Given the description of an element on the screen output the (x, y) to click on. 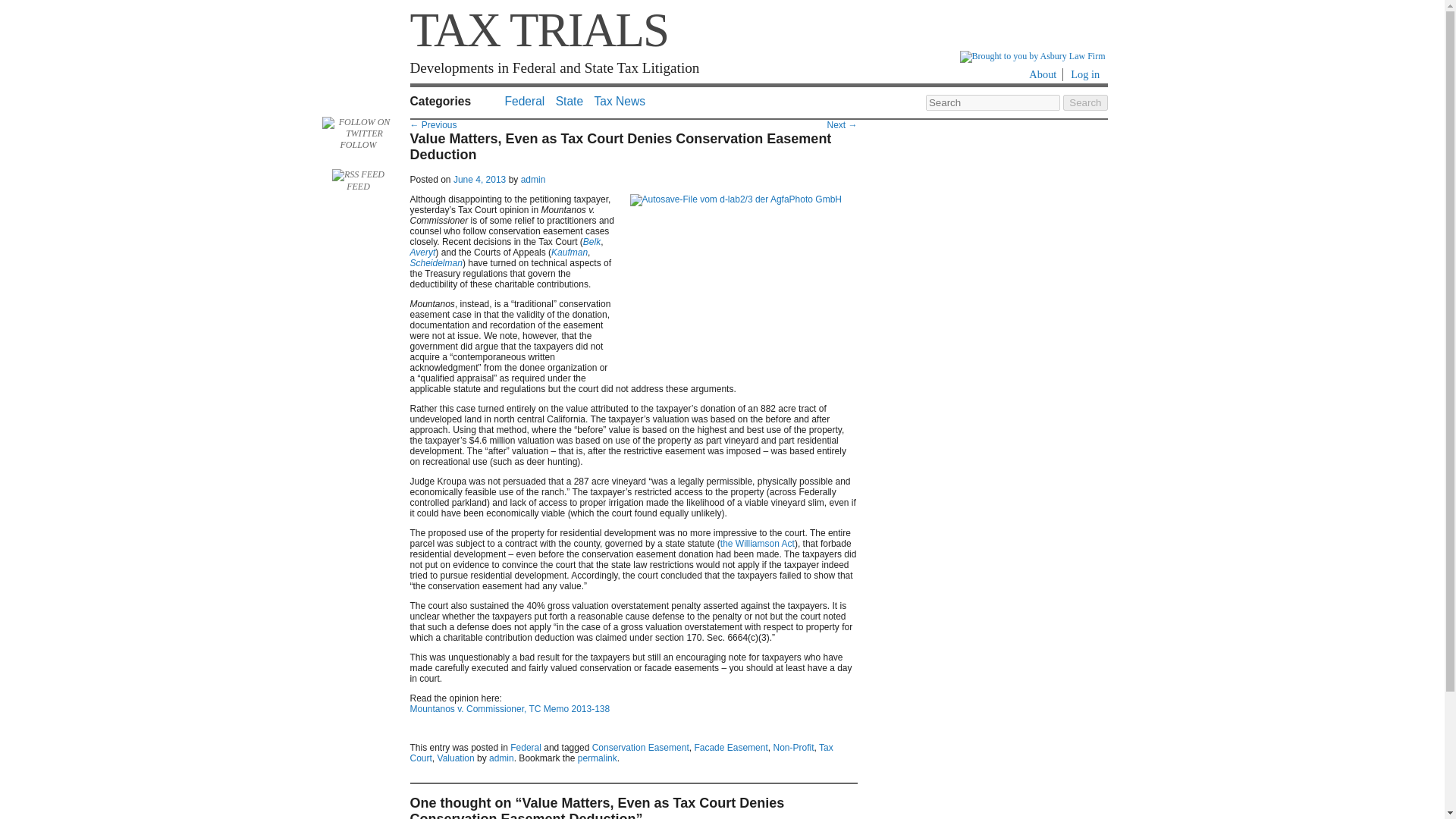
About (1042, 74)
Tax Trials (538, 30)
State (569, 101)
June 4, 2013 (478, 179)
Log in (1085, 74)
Non-Profit (793, 747)
admin (501, 757)
Tax News (619, 101)
TAX TRIALS (538, 30)
